Given the description of an element on the screen output the (x, y) to click on. 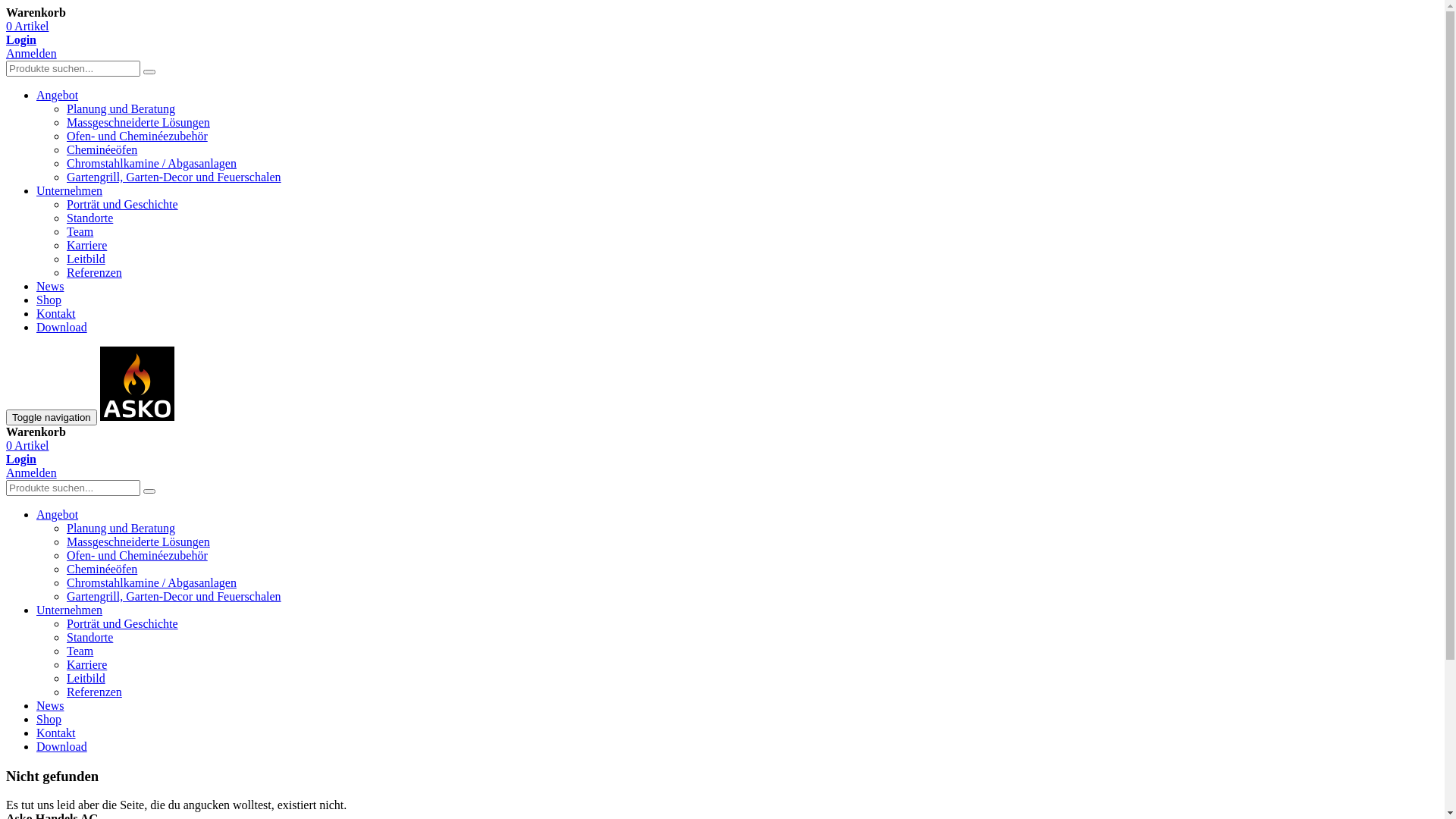
Leitbild Element type: text (85, 677)
Shop Element type: text (48, 299)
0 Artikel Element type: text (27, 25)
Team Element type: text (79, 650)
Team Element type: text (79, 231)
Download Element type: text (61, 746)
Standorte Element type: text (89, 636)
News Element type: text (49, 705)
Download Element type: text (61, 326)
Unternehmen Element type: text (69, 609)
Shop Element type: text (48, 718)
Unternehmen Element type: text (69, 190)
Kontakt Element type: text (55, 313)
Karriere Element type: text (86, 244)
Referenzen Element type: text (94, 272)
Referenzen Element type: text (94, 691)
Karriere Element type: text (86, 664)
Gartengrill, Garten-Decor und Feuerschalen Element type: text (173, 176)
Angebot Element type: text (57, 94)
Gartengrill, Garten-Decor und Feuerschalen Element type: text (173, 595)
Planung und Beratung Element type: text (120, 527)
Leitbild Element type: text (85, 258)
Toggle navigation Element type: text (51, 417)
Login
Anmelden Element type: text (31, 46)
Kontakt Element type: text (55, 732)
Planung und Beratung Element type: text (120, 108)
Chromstahlkamine / Abgasanlagen Element type: text (151, 162)
News Element type: text (49, 285)
Standorte Element type: text (89, 217)
Angebot Element type: text (57, 514)
Login
Anmelden Element type: text (31, 465)
Chromstahlkamine / Abgasanlagen Element type: text (151, 582)
0 Artikel Element type: text (27, 445)
